Given the description of an element on the screen output the (x, y) to click on. 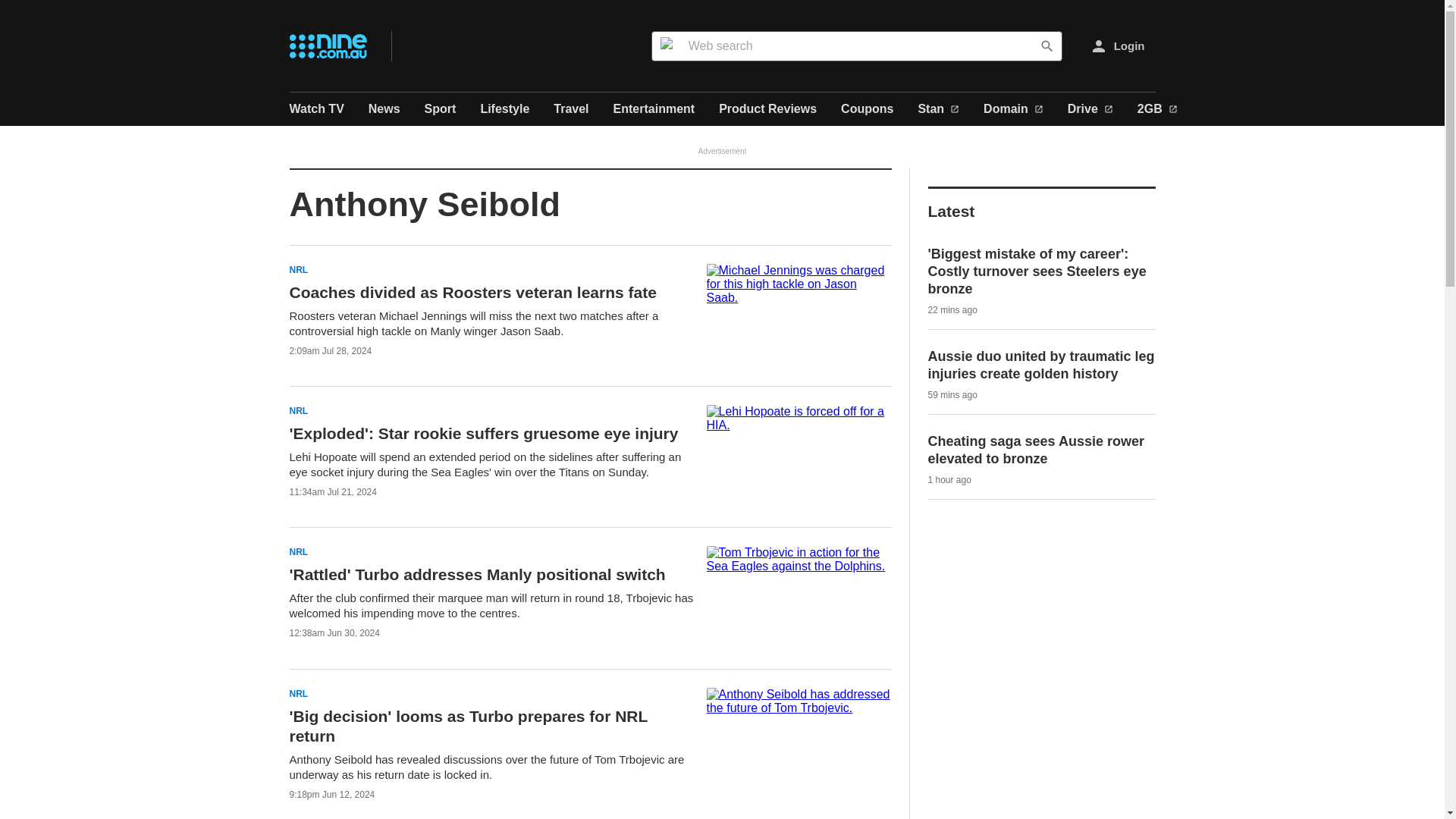
'Big decision' looms as Turbo prepares for NRL return (468, 725)
2GB (1157, 108)
'Exploded': Star rookie suffers gruesome eye injury (483, 433)
Login (1118, 45)
Coupons (867, 108)
Stan (938, 108)
NRL (298, 410)
Lifestyle (504, 108)
News (384, 108)
NRL (298, 694)
